Given the description of an element on the screen output the (x, y) to click on. 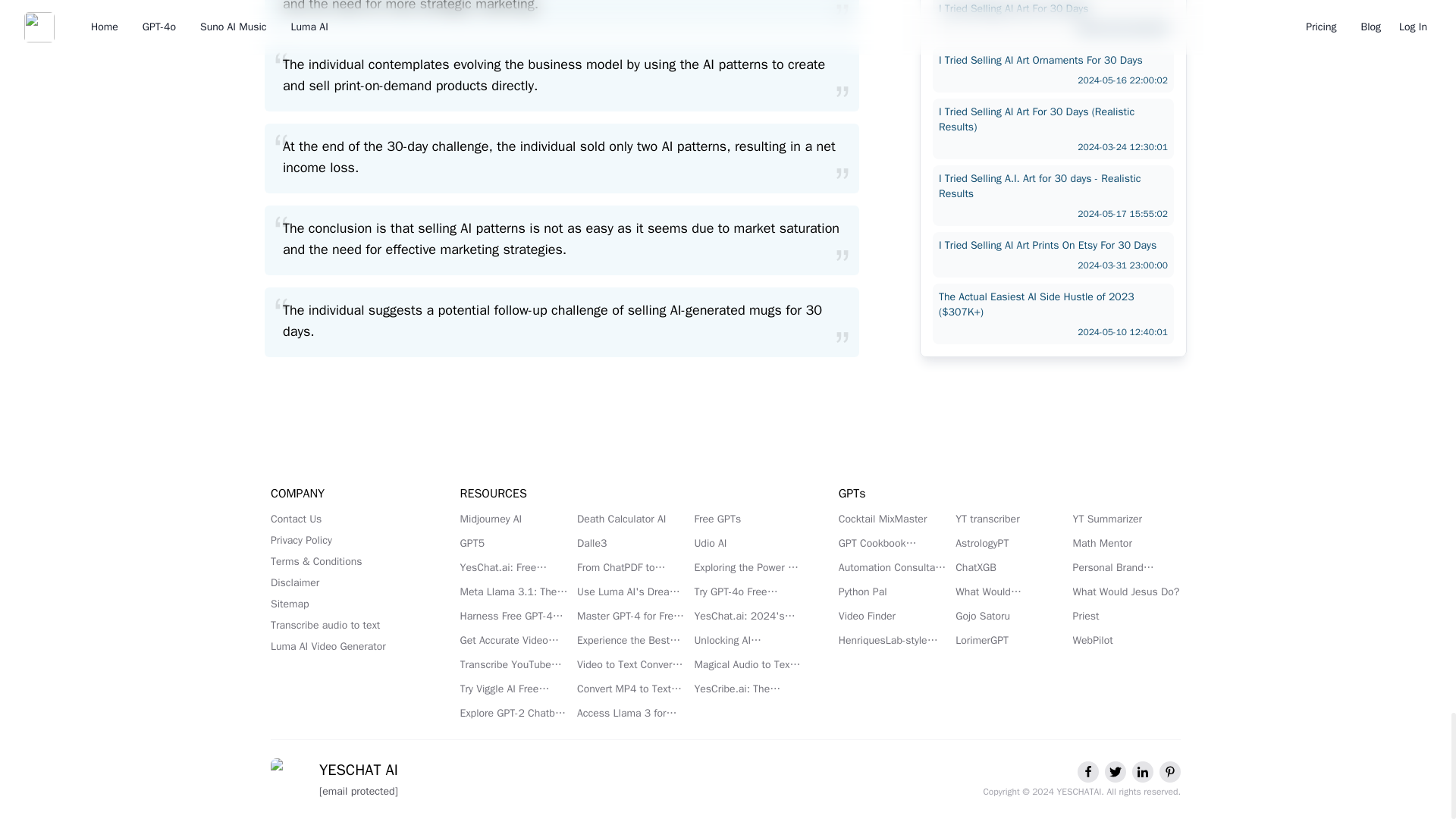
Death Calculator AI (630, 519)
Transcribe audio to text (346, 625)
Disclaimer (346, 582)
Luma AI Video Generator (346, 646)
Disclaimer (346, 582)
Free GPTs (748, 519)
Midjourney AI (513, 519)
